Given the description of an element on the screen output the (x, y) to click on. 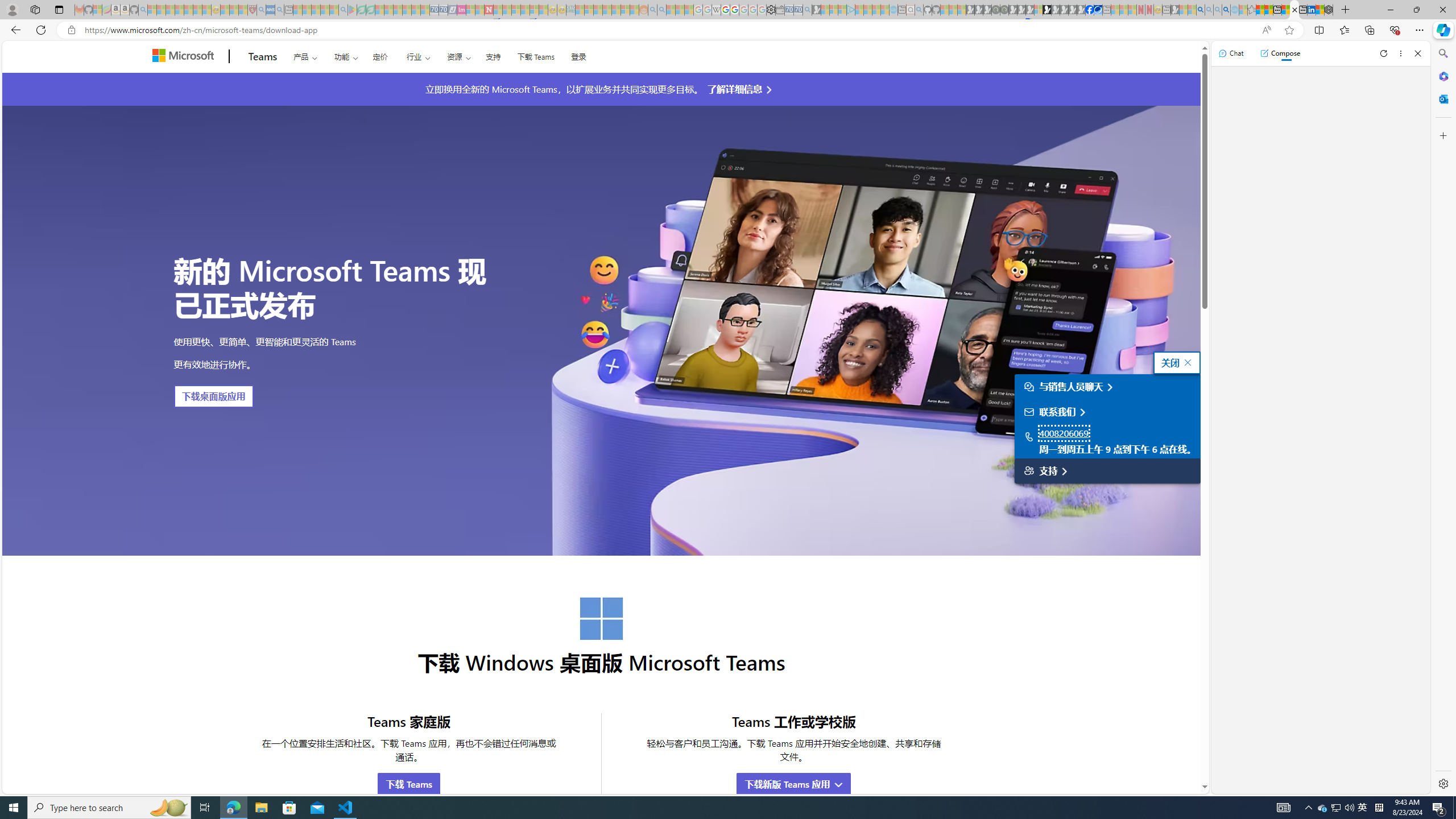
Google Chrome Internet Browser Download - Search Images (1225, 9)
Pets - MSN - Sleeping (324, 9)
